Given the description of an element on the screen output the (x, y) to click on. 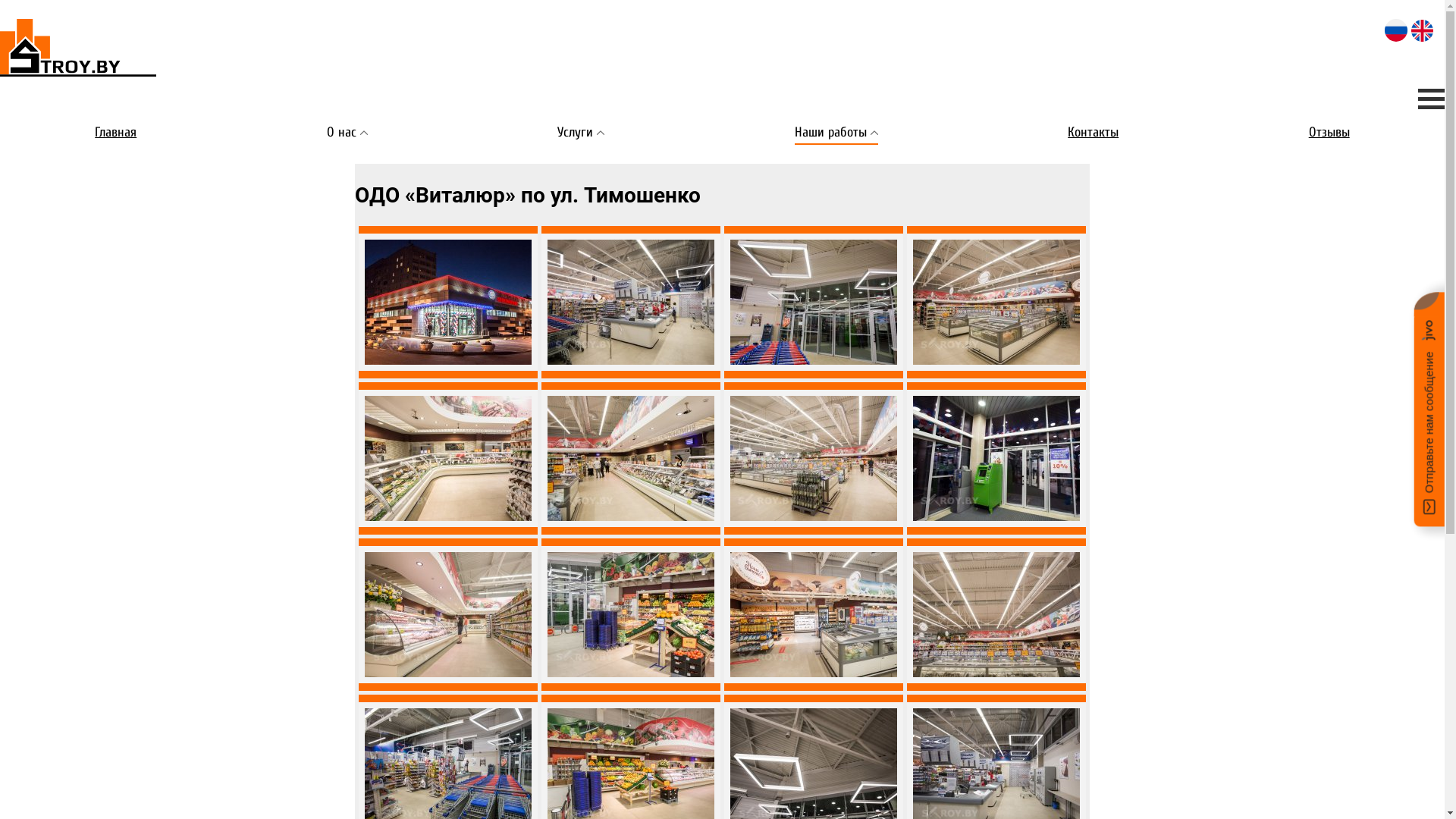
English (UK) Element type: hover (1422, 30)
Russian (RU) Element type: hover (1395, 29)
